Given the description of an element on the screen output the (x, y) to click on. 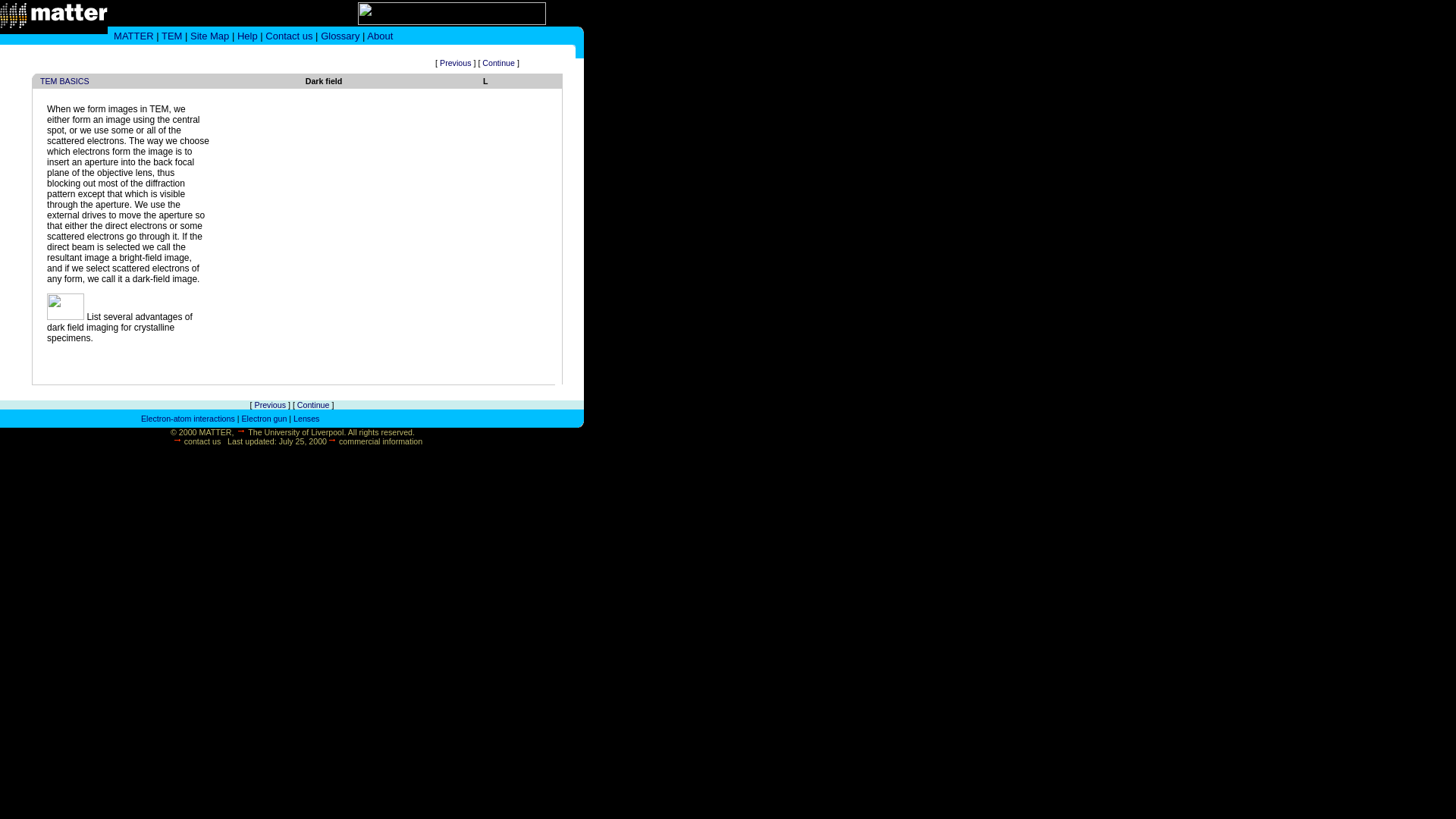
Previous (454, 62)
Previous (269, 404)
About (379, 35)
Help (247, 35)
MATTER (132, 35)
Glossary (339, 35)
Electron-atom interactions (189, 418)
Continue (498, 62)
TEM BASICS (64, 80)
commercial information (380, 440)
contact us (202, 440)
The University of Liverpool (295, 431)
Contact us (288, 35)
Electron gun (263, 418)
Continue (313, 404)
